Given the description of an element on the screen output the (x, y) to click on. 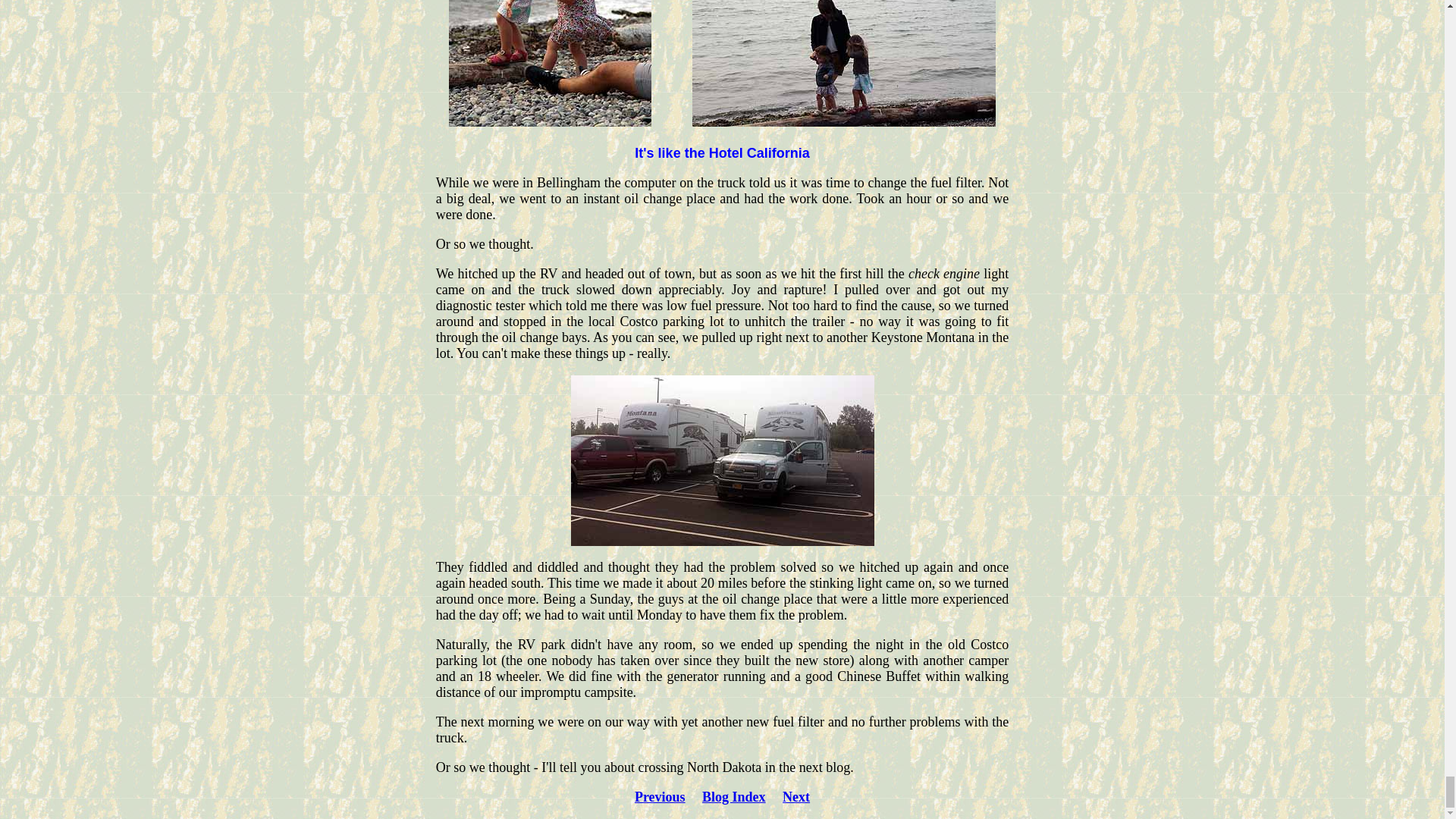
Blog Index (733, 796)
Previous (659, 796)
Next (796, 796)
